Given the description of an element on the screen output the (x, y) to click on. 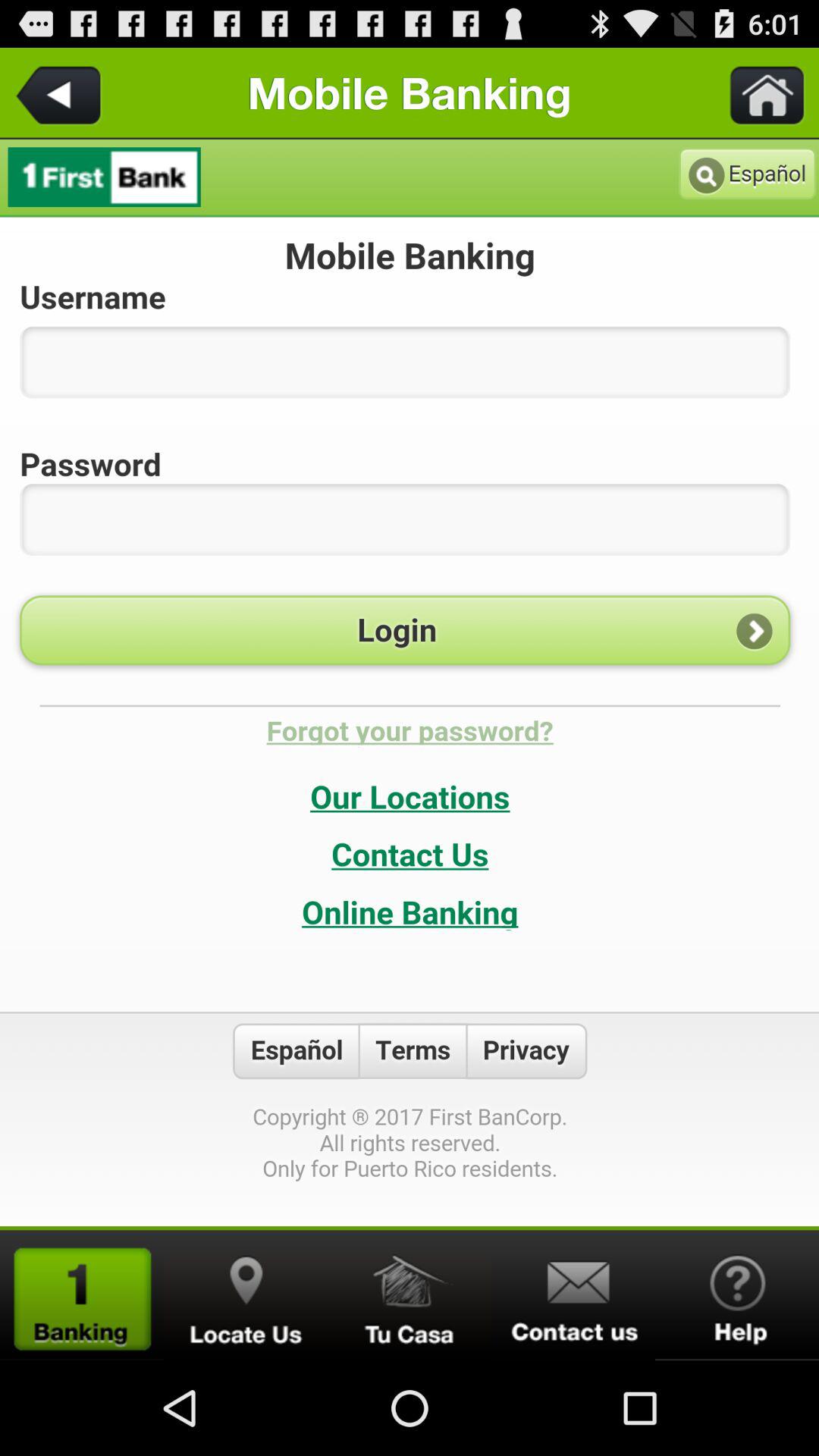
location (245, 1295)
